Given the description of an element on the screen output the (x, y) to click on. 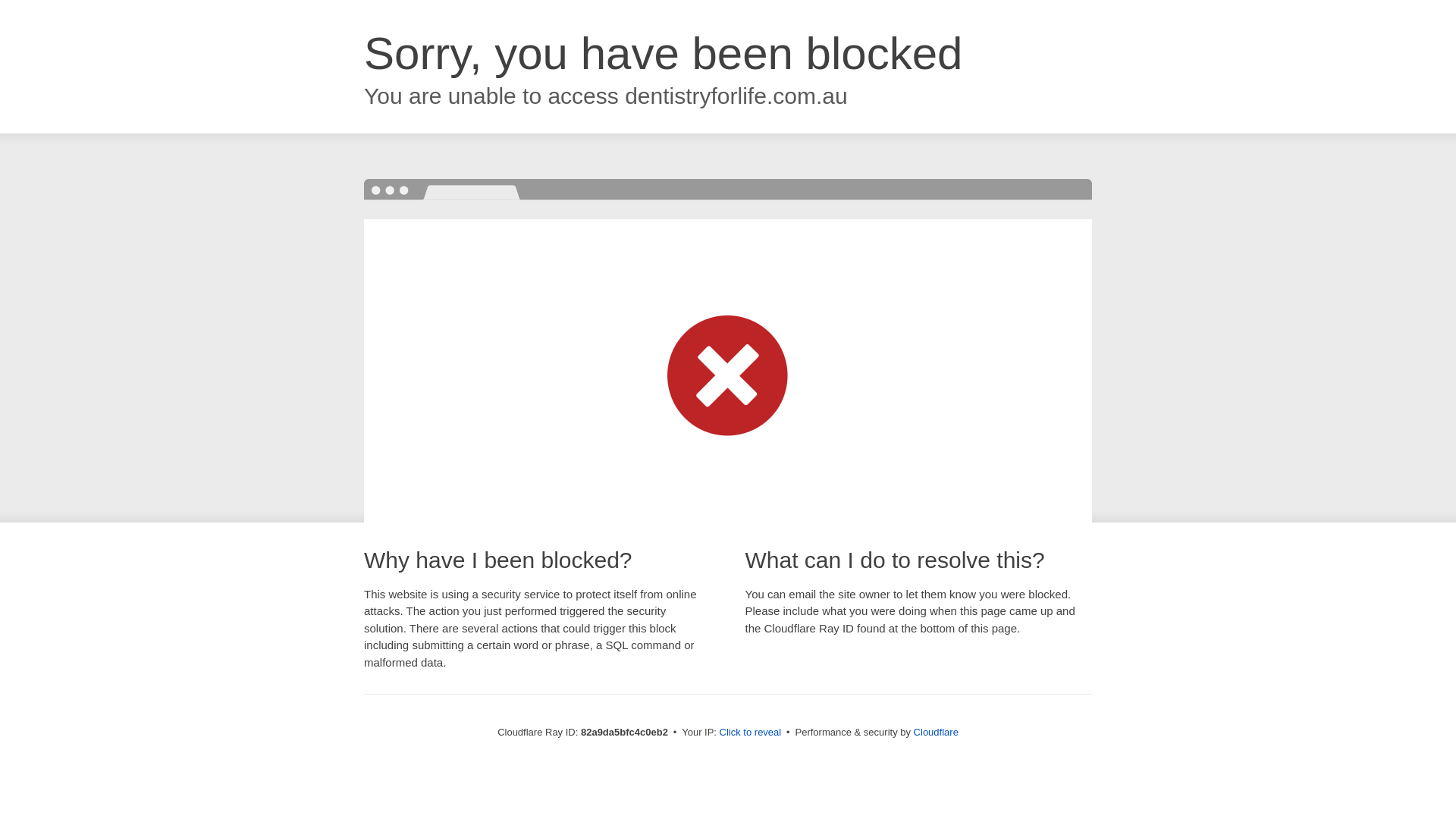
Click to reveal Element type: text (750, 732)
Cloudflare Element type: text (935, 731)
